Given the description of an element on the screen output the (x, y) to click on. 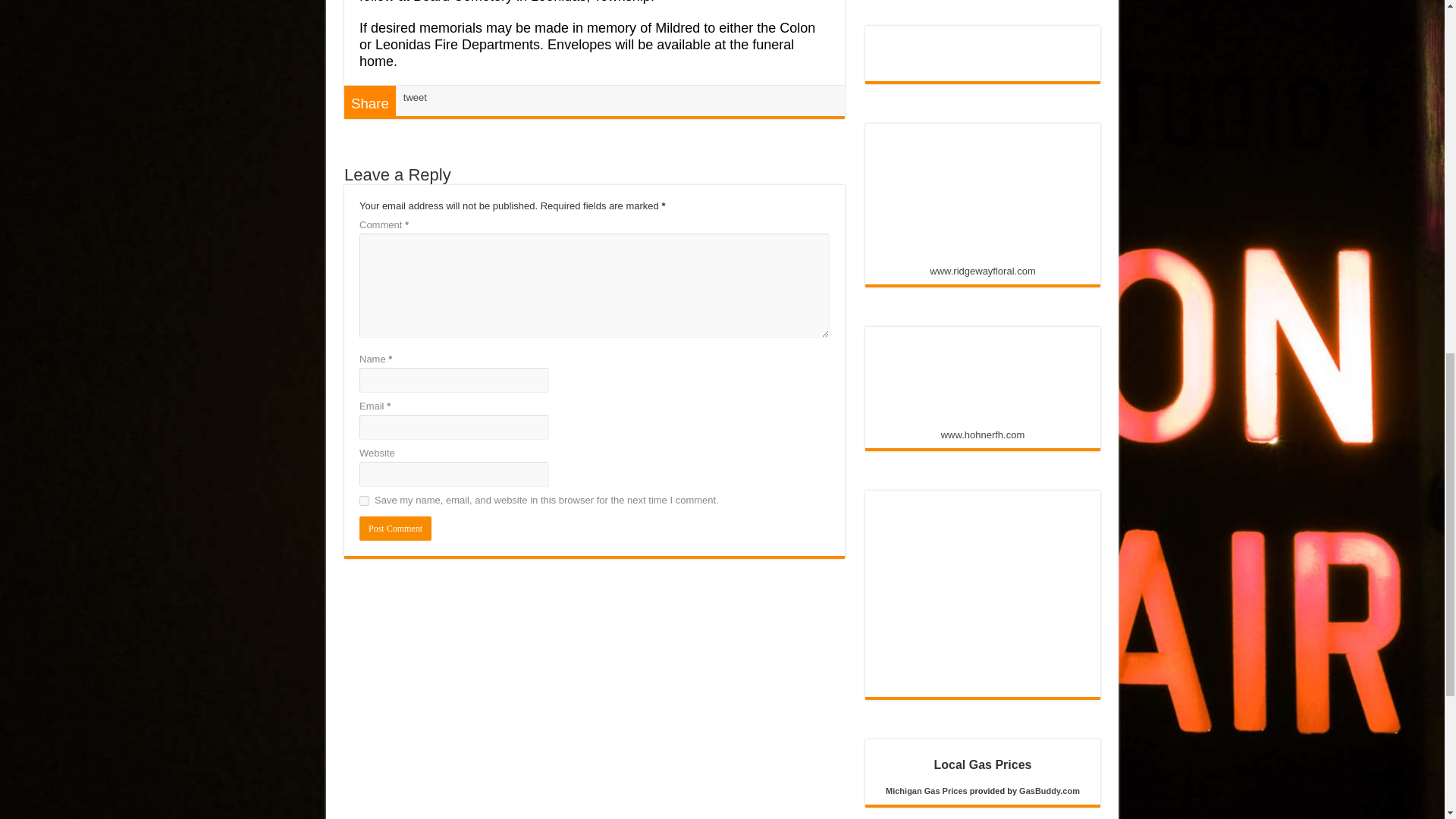
Post Comment (394, 528)
yes (364, 501)
